Given the description of an element on the screen output the (x, y) to click on. 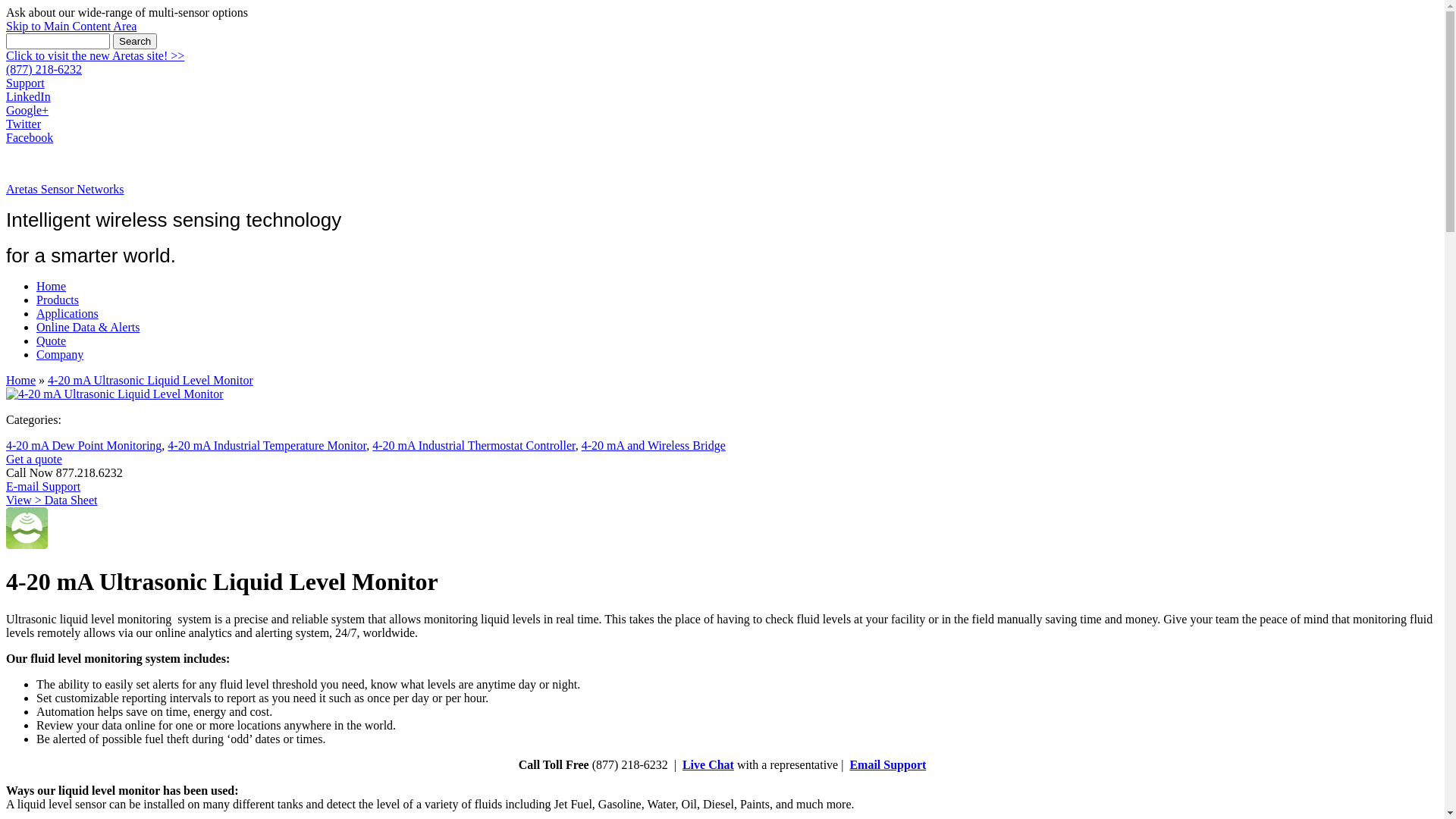
Facebook Element type: text (29, 137)
Home Element type: text (20, 379)
Company Element type: text (59, 354)
4-20 mA Ultrasonic Liquid Level Monitor Element type: text (150, 379)
4-20 mA Dew Point Monitoring Element type: text (83, 445)
4-20 mA Industrial Thermostat Controller Element type: text (473, 445)
Click to visit the new Aretas site! >> Element type: text (95, 55)
Live Chat Element type: text (708, 764)
Enter the terms you wish to search for Element type: hover (57, 41)
Applications Element type: text (67, 313)
Quote Element type: text (50, 340)
Search Element type: text (134, 41)
Skip to Main Content Area Element type: text (71, 25)
4-20 mA and Wireless Bridge Element type: text (653, 445)
Support Element type: text (25, 82)
Get a quote Element type: text (34, 458)
Aretas Sensor Networks Element type: text (65, 188)
Products Element type: text (57, 299)
4-20 mA Ultrasonic Liquid Level Monitor Element type: hover (114, 394)
Google+ Element type: text (27, 109)
View > Data Sheet Element type: text (51, 499)
Online Data & Alerts Element type: text (87, 326)
E-mail Support Element type: text (43, 486)
Email Support Element type: text (887, 764)
(877) 218-6232 Element type: text (43, 68)
LinkedIn Element type: text (28, 96)
Twitter Element type: text (23, 123)
Home Element type: text (50, 285)
4-20 mA Industrial Temperature Monitor Element type: text (266, 445)
